Given the description of an element on the screen output the (x, y) to click on. 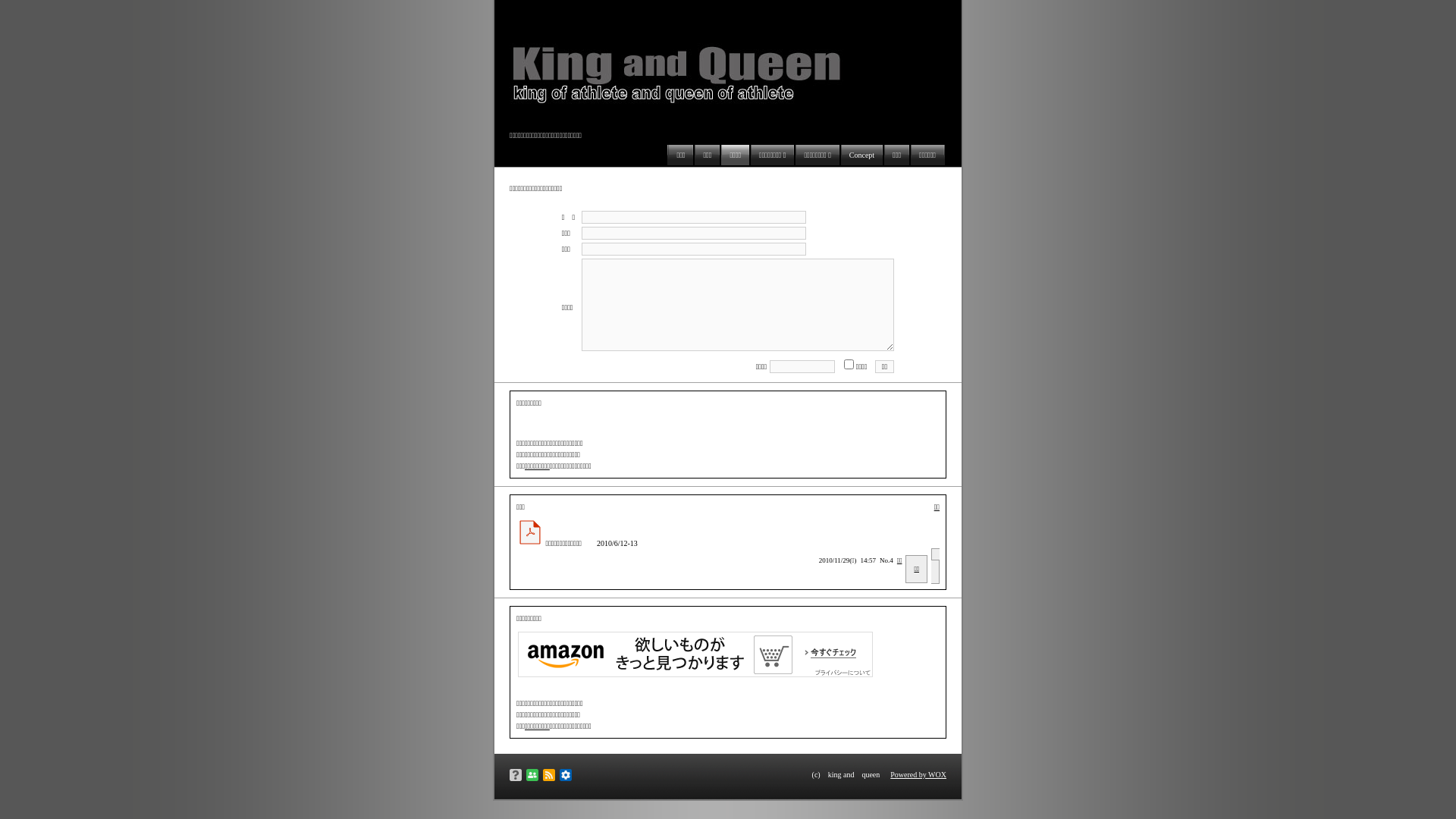
Powered by WOX Element type: text (918, 774)
Concept Element type: text (861, 154)
kingandqueen's WebSite Element type: hover (691, 70)
RSS Element type: hover (548, 774)
